Given the description of an element on the screen output the (x, y) to click on. 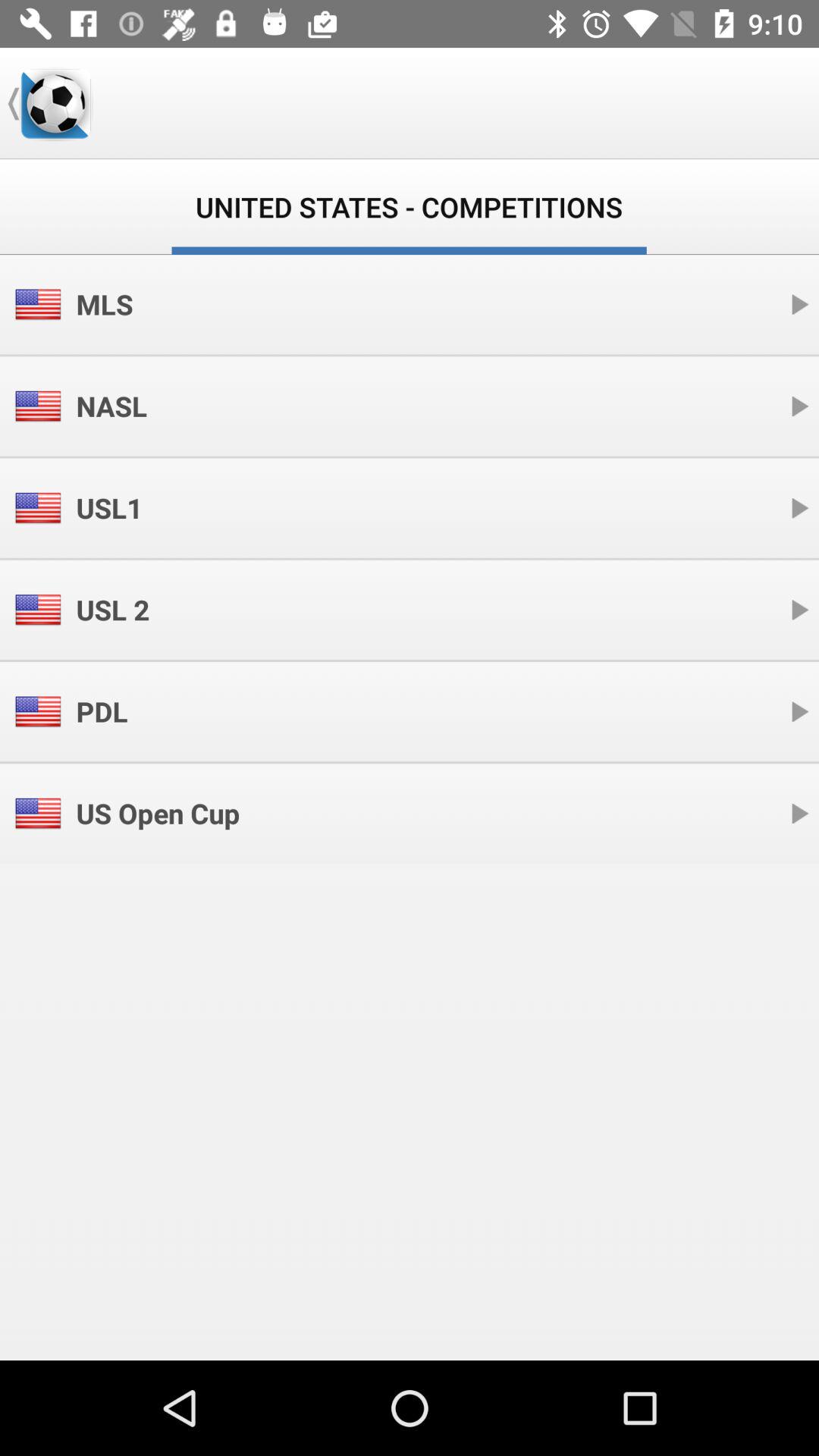
turn off usl1 item (109, 507)
